Given the description of an element on the screen output the (x, y) to click on. 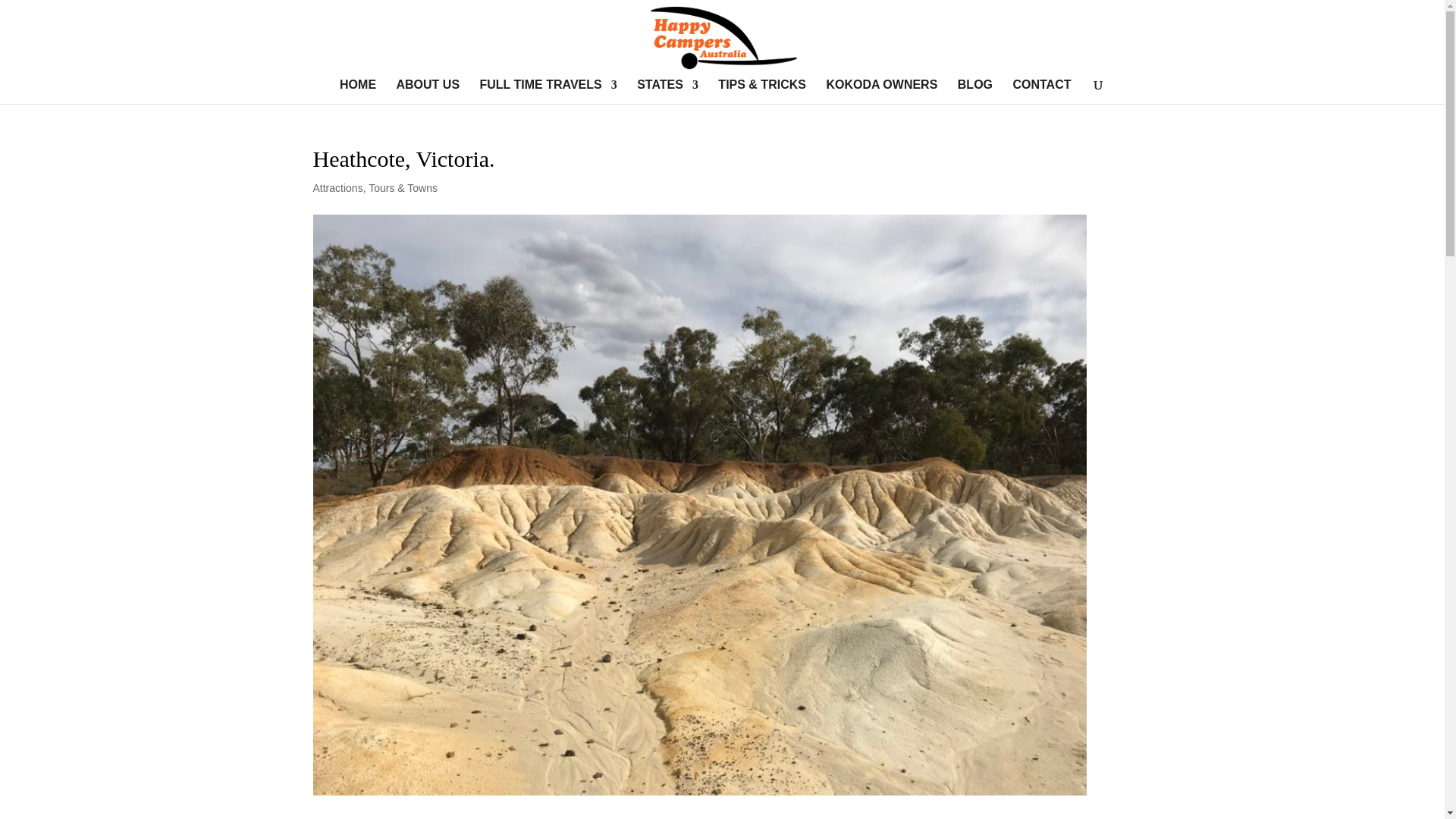
CONTACT (1040, 91)
STATES (667, 91)
HOME (357, 91)
FULL TIME TRAVELS (548, 91)
ABOUT US (428, 91)
KOKODA OWNERS (881, 91)
BLOG (975, 91)
